Given the description of an element on the screen output the (x, y) to click on. 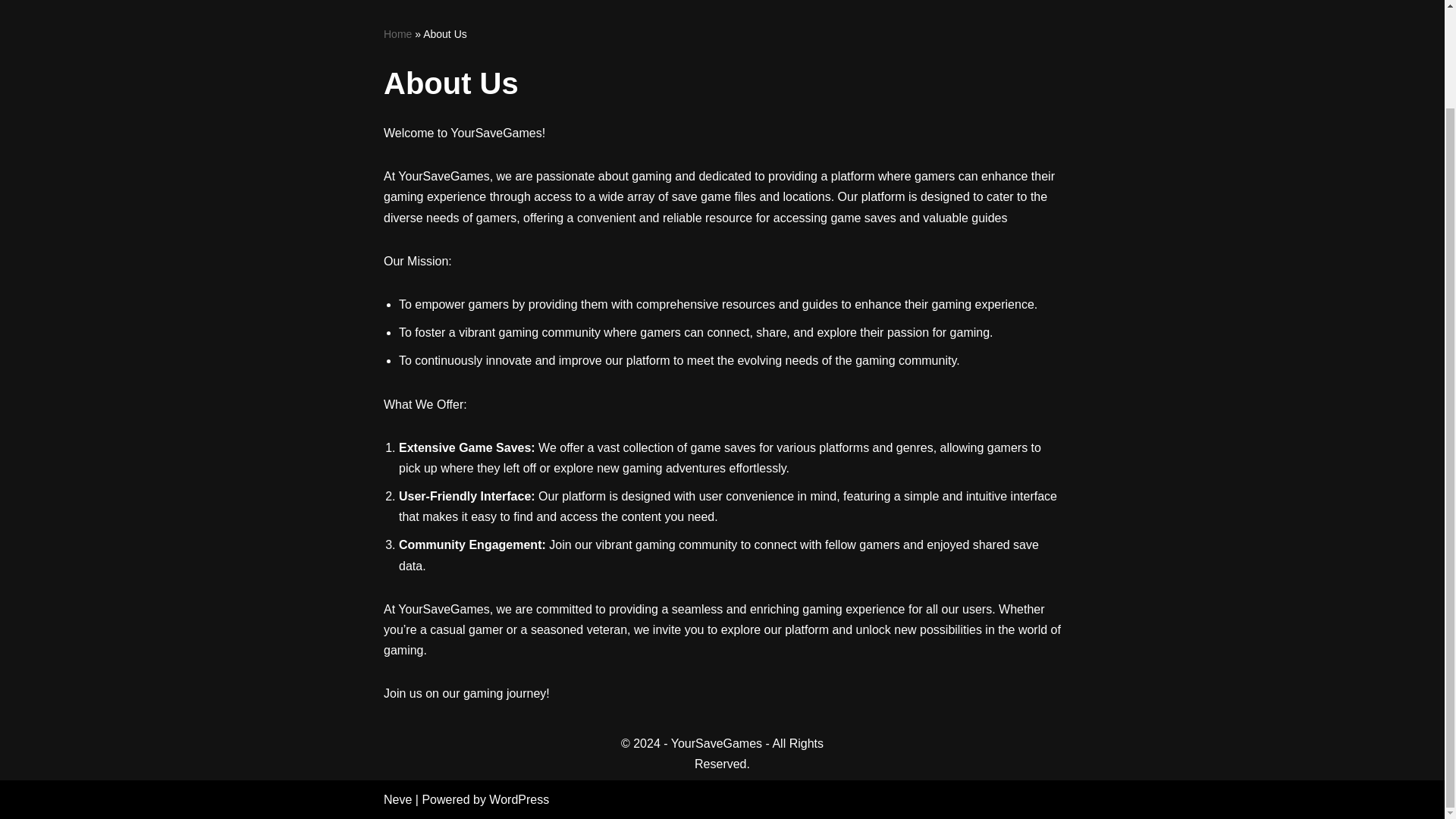
WordPress (518, 799)
Neve (398, 799)
Home (398, 33)
